Given the description of an element on the screen output the (x, y) to click on. 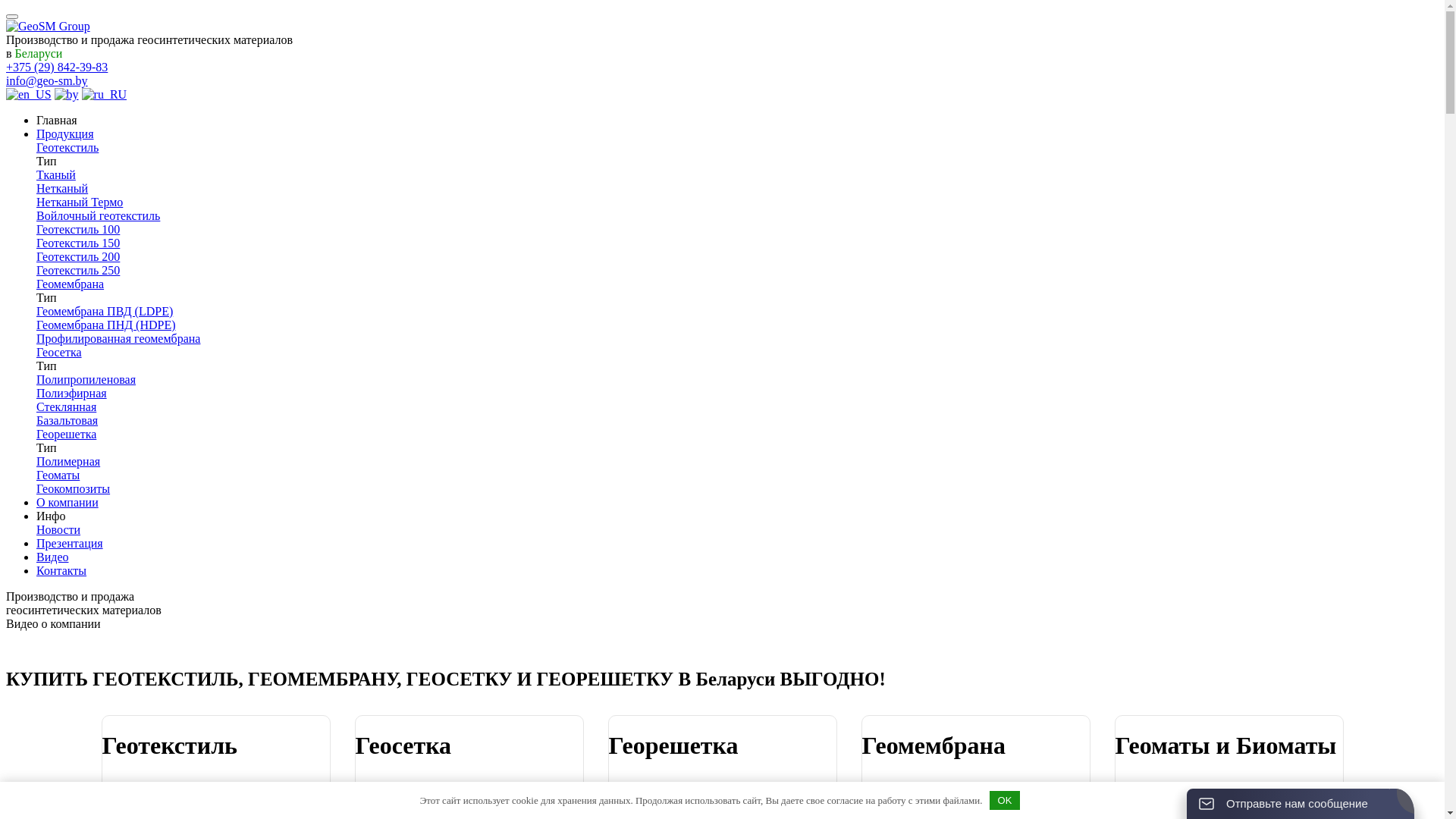
+375 (29) 842-39-83 Element type: text (56, 66)
OK Element type: text (1004, 799)
English Element type: hover (28, 93)
info@geo-sm.by Element type: text (46, 80)
GeoSM Group Element type: hover (48, 26)
